Given the description of an element on the screen output the (x, y) to click on. 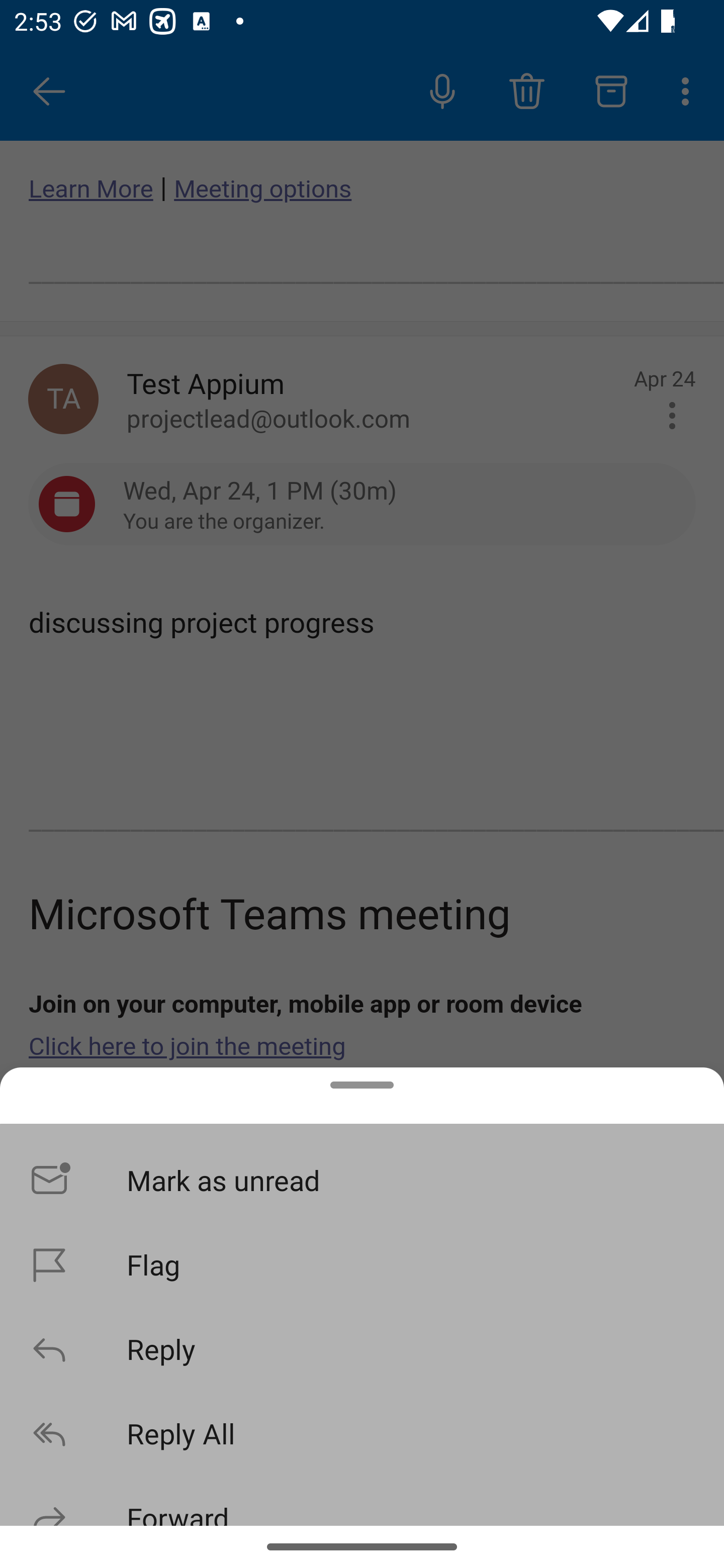
Mark as unread (362, 1179)
Flag (362, 1263)
Reply (362, 1348)
Reply All (362, 1432)
Forward (362, 1500)
